Given the description of an element on the screen output the (x, y) to click on. 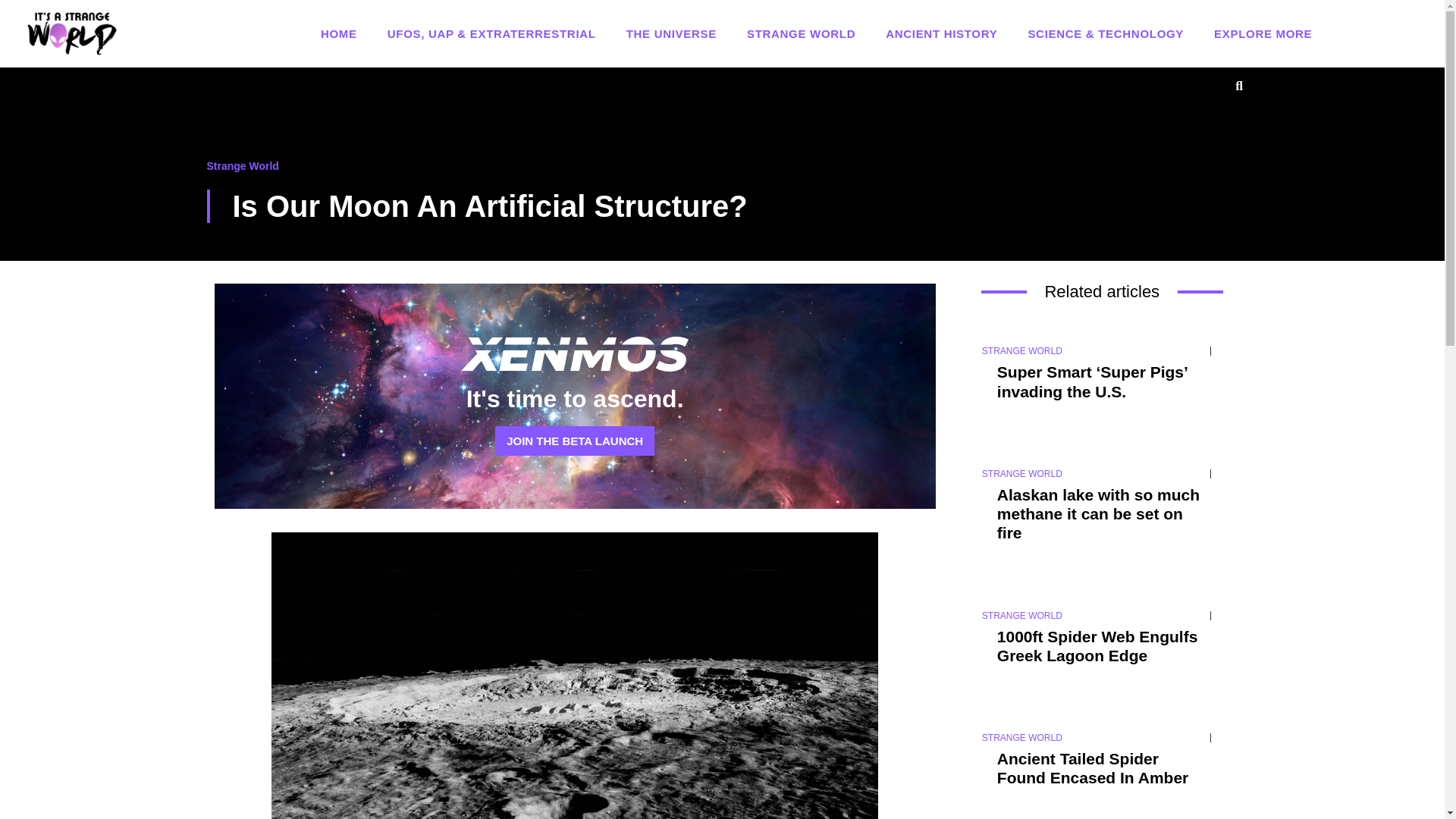
JOIN THE BETA LAUNCH (574, 440)
THE UNIVERSE (671, 33)
Strange World (242, 165)
Alaskan lake with so much methane it can be set on fire (1098, 513)
ANCIENT HISTORY (941, 33)
Ancient Tailed Spider Found Encased In Amber (1092, 768)
HOME (338, 33)
EXPLORE MORE (1262, 33)
1000ft Spider Web Engulfs Greek Lagoon Edge (1097, 646)
STRANGE WORLD (801, 33)
